Given the description of an element on the screen output the (x, y) to click on. 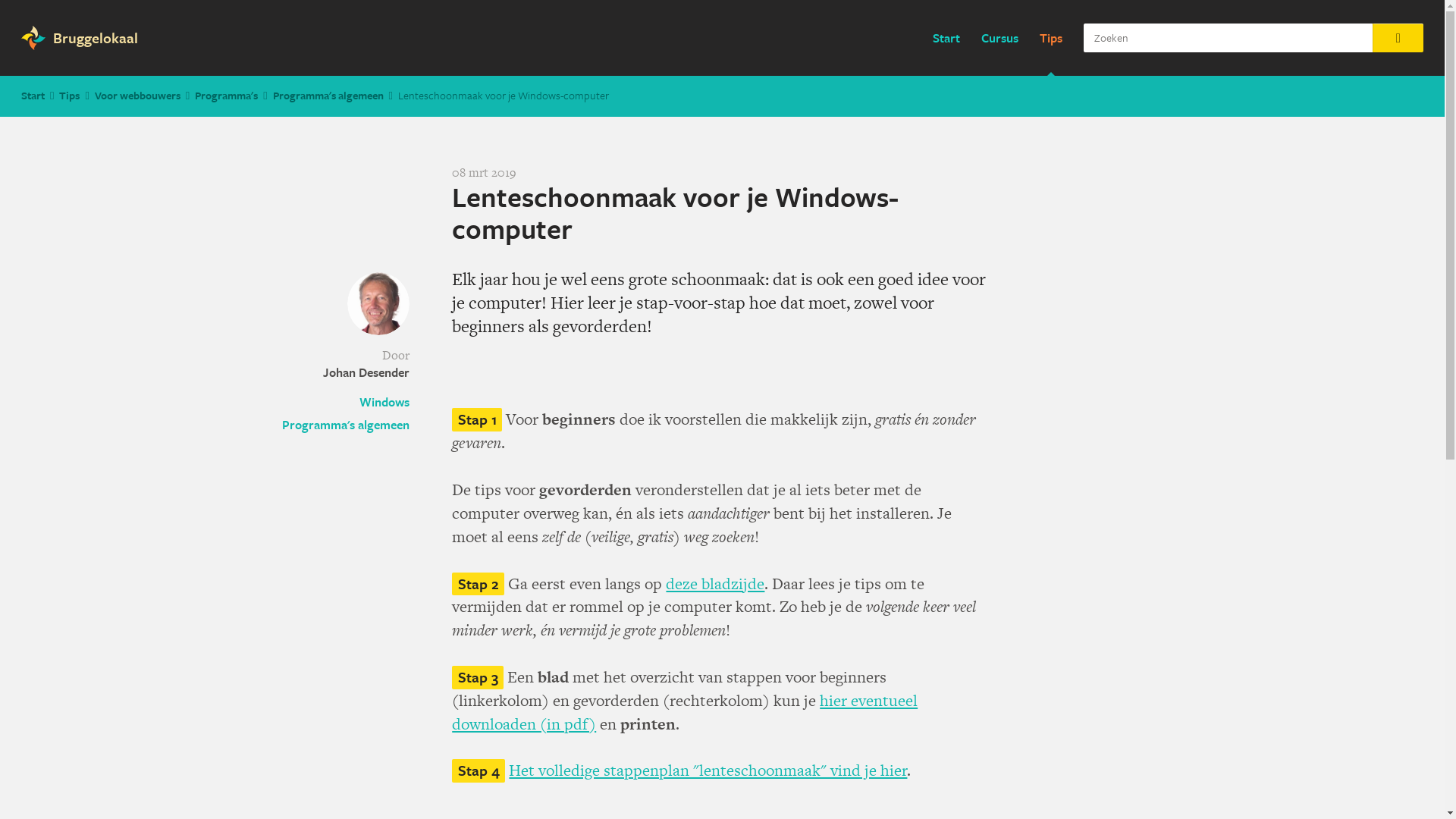
Het volledige stappenplan "lenteschoonmaak" vind je hier Element type: text (707, 770)
Start Element type: text (32, 95)
Bruggelokaal Element type: text (90, 37)
Start Element type: text (946, 37)
Windows Element type: text (345, 402)
Tips Element type: text (1051, 37)
hier eventueel downloaden (in pdf) Element type: text (684, 711)
Programma's algemeen Element type: text (328, 95)
Programma's algemeen Element type: text (345, 424)
Voor webbouwers Element type: text (137, 95)
Programma's Element type: text (225, 95)
Tips Element type: text (69, 95)
Cursus Element type: text (999, 37)
deze bladzijde Element type: text (714, 582)
